Given the description of an element on the screen output the (x, y) to click on. 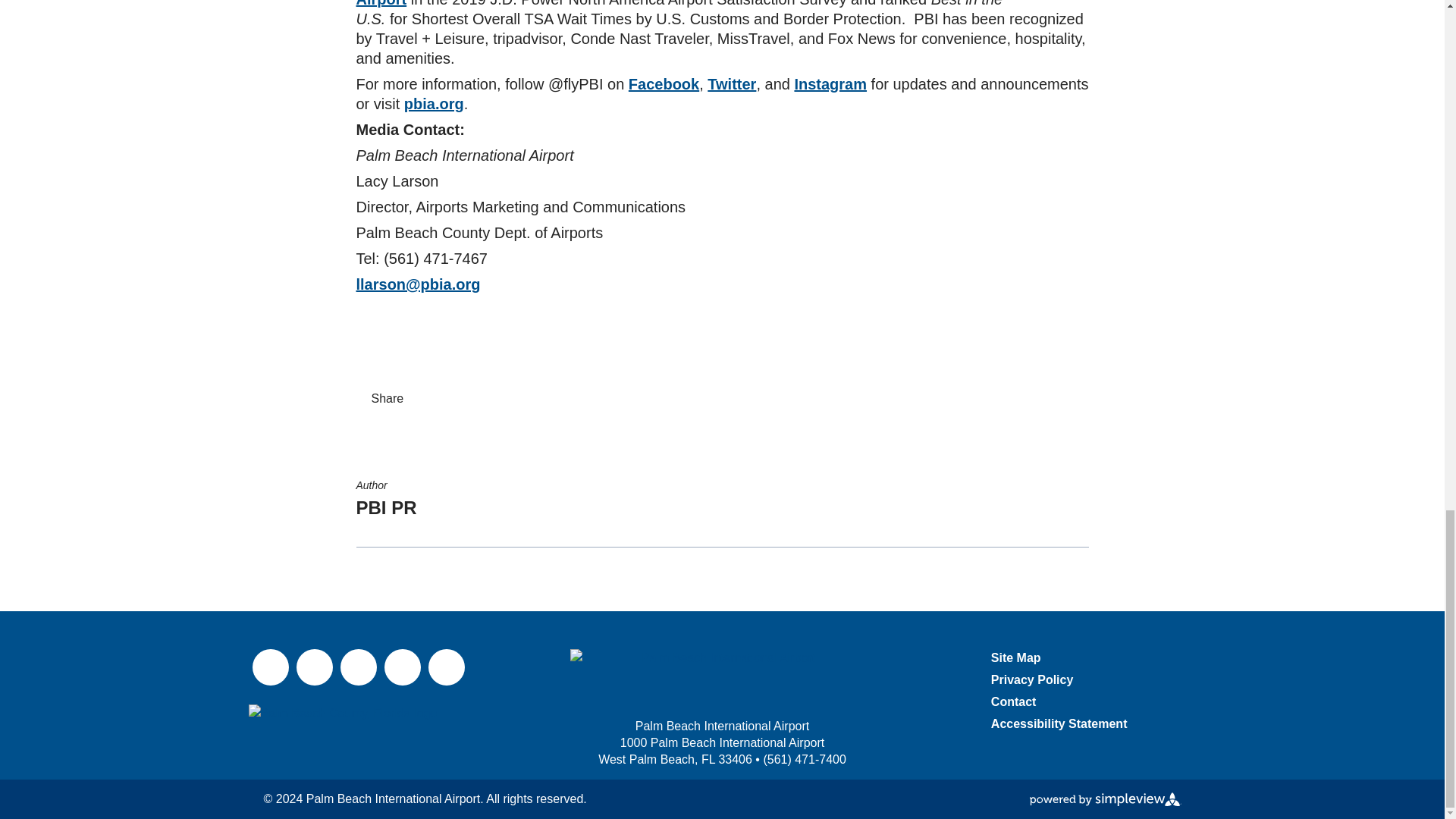
Contact (1013, 701)
Accessibility Statement (1058, 723)
Visit our instagram page (357, 667)
Visit our linkedin page (402, 667)
Site Map (1016, 657)
Visit our youtube page (446, 667)
Privacy Policy (1032, 679)
Visit our twitter page (313, 667)
Visit our facebook page (269, 667)
